Given the description of an element on the screen output the (x, y) to click on. 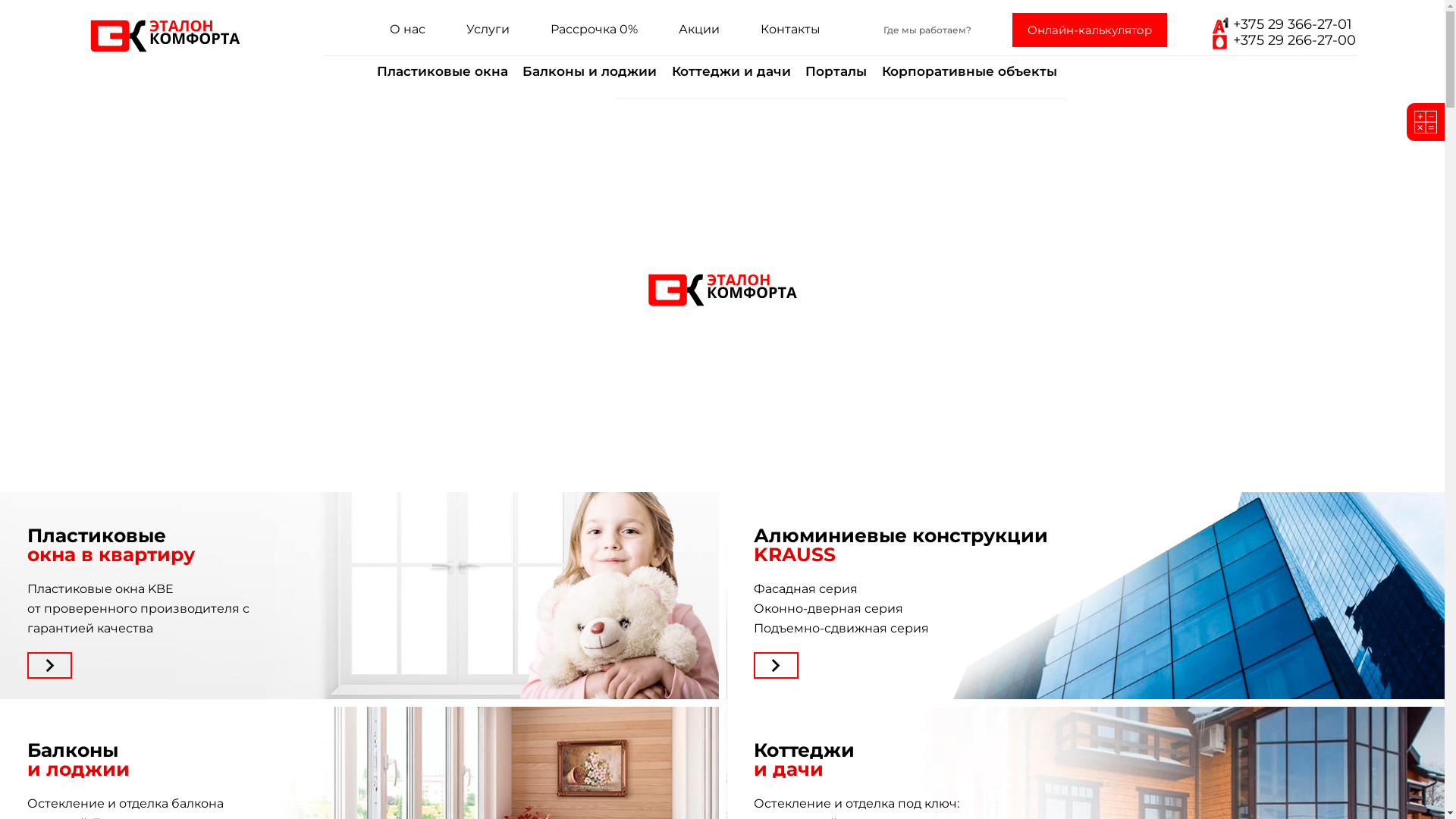
+375 29 366-27-01
+375 29 266-27-00 Element type: text (1281, 32)
